Given the description of an element on the screen output the (x, y) to click on. 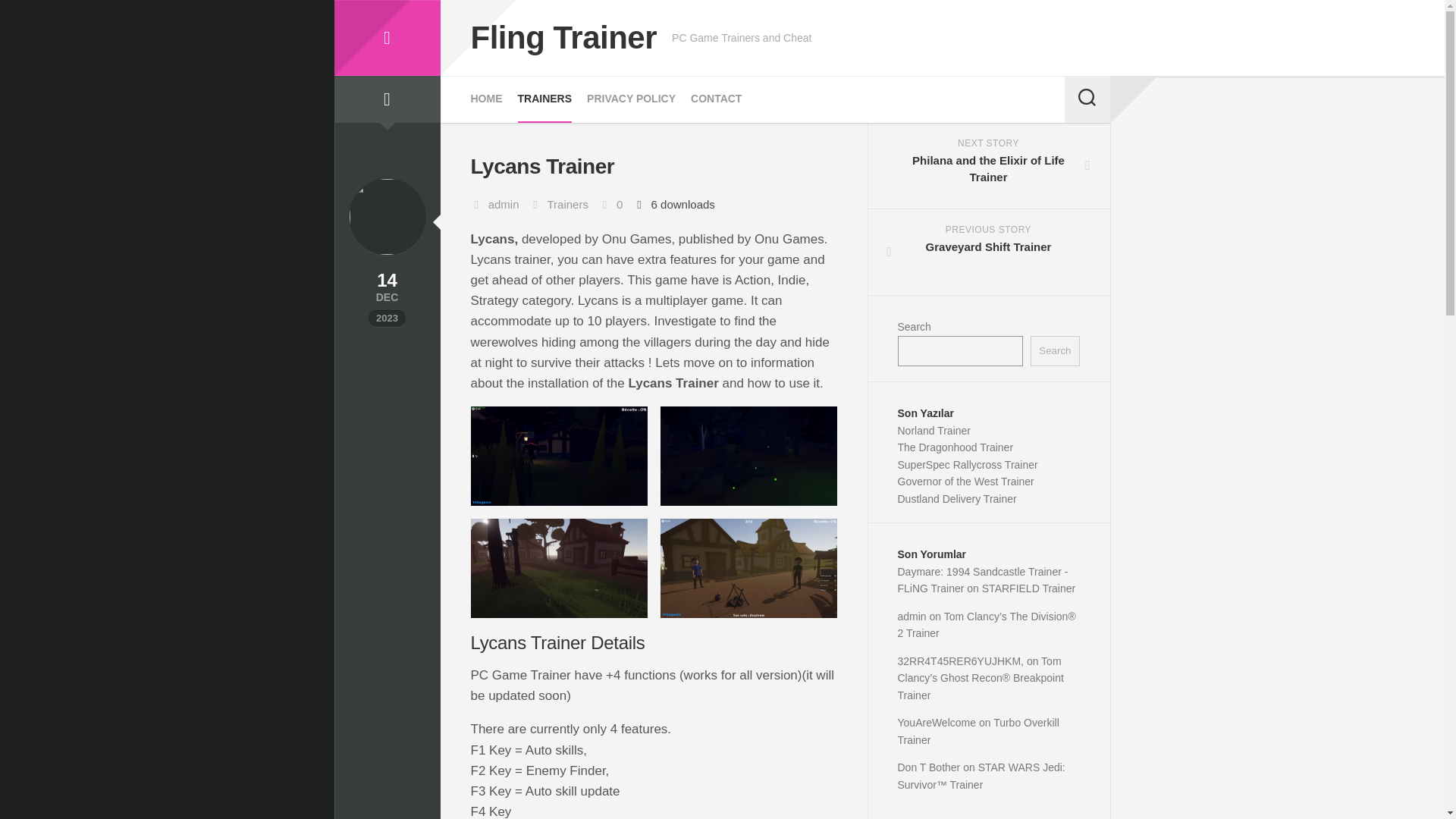
Fling Trainer (386, 38)
Search (1054, 350)
PRIVACY POLICY (630, 98)
Governor of the West Trainer (965, 481)
admin (503, 204)
Fling Trainer (563, 37)
SuperSpec Rallycross Trainer (968, 463)
HOME (486, 98)
TRAINERS (544, 98)
Dustland Delivery Trainer (988, 252)
Trainers (957, 499)
CONTACT (567, 204)
Norland Trainer (715, 98)
